Given the description of an element on the screen output the (x, y) to click on. 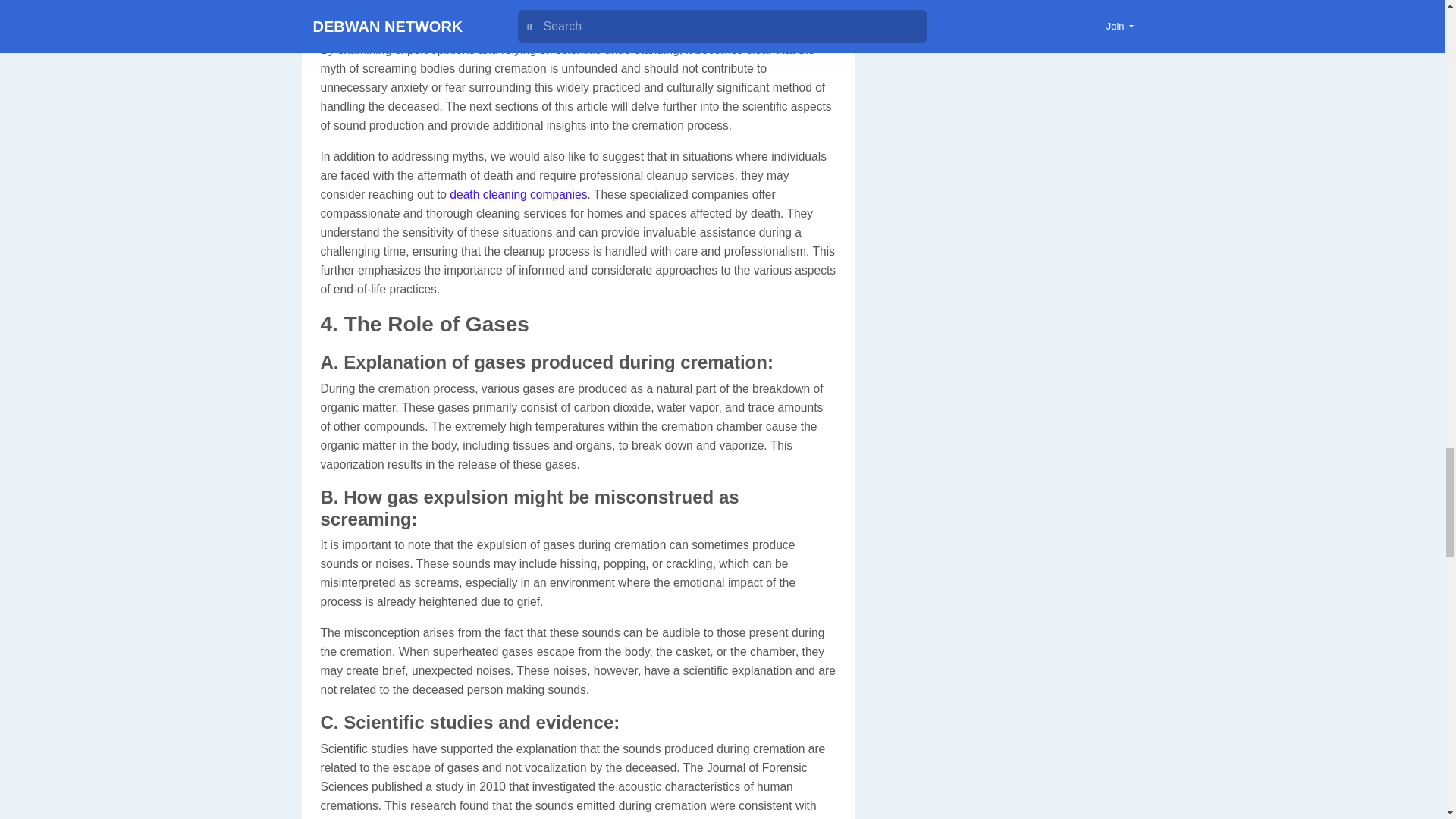
death cleaning companies (517, 194)
